Given the description of an element on the screen output the (x, y) to click on. 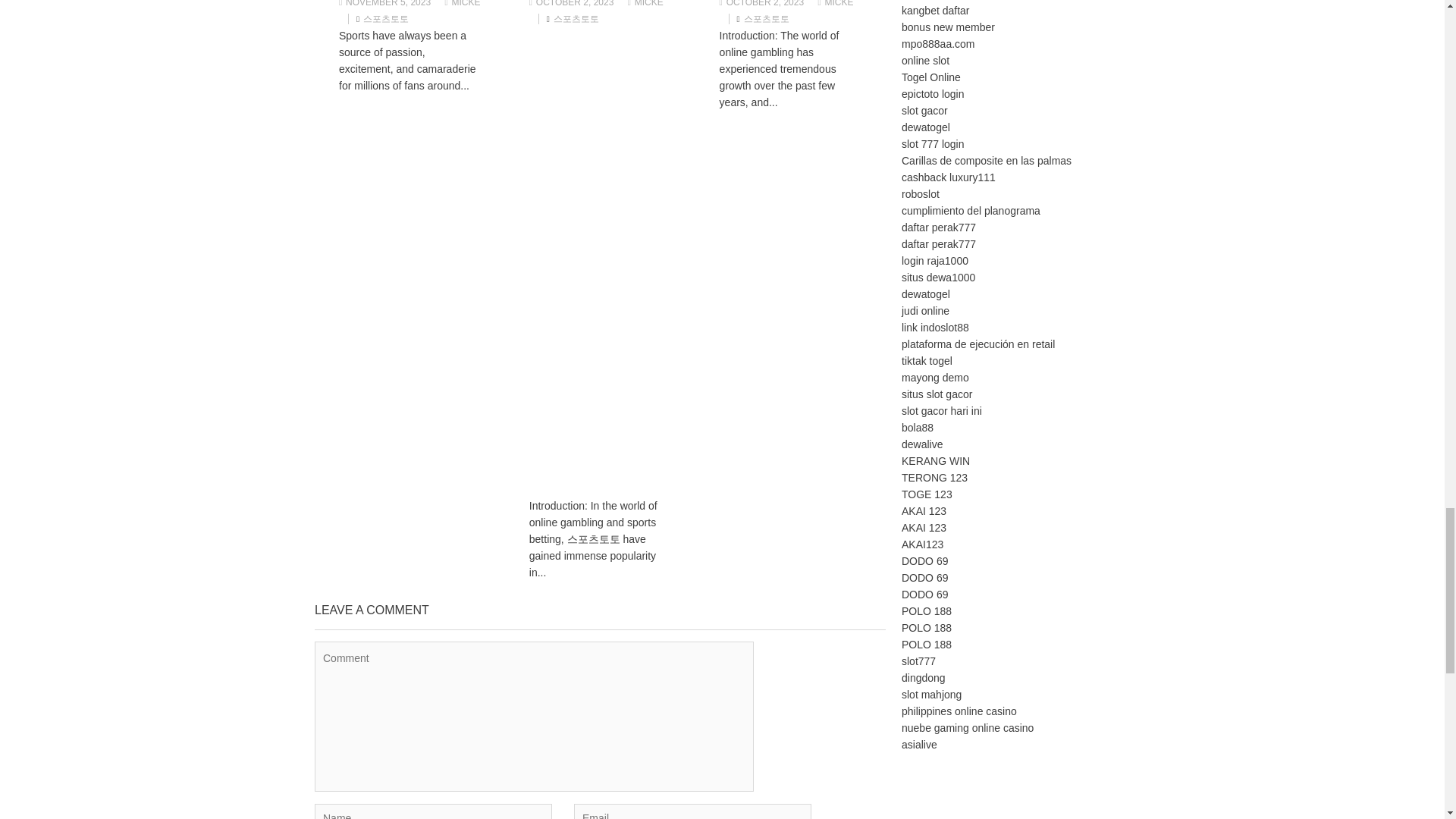
OCTOBER 2, 2023 (571, 3)
NOVEMBER 5, 2023 (384, 3)
MICKE (462, 3)
MICKE (645, 3)
